Given the description of an element on the screen output the (x, y) to click on. 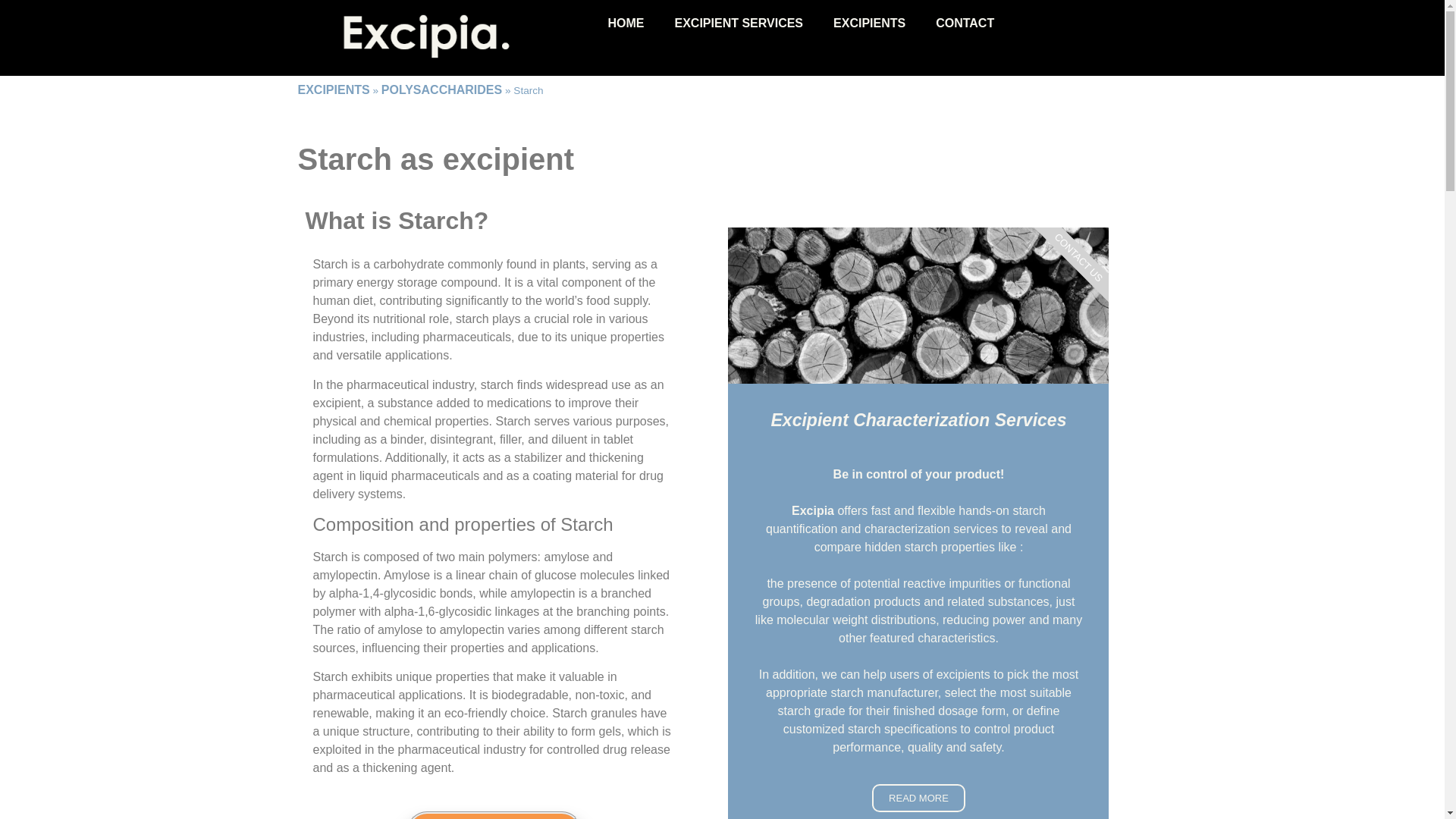
EXCIPIENT SERVICES (738, 23)
EXCIPIENTS (869, 23)
HOME (625, 23)
CONTACT (964, 23)
cropped-Logo-Excipia-tr-1.png (444, 38)
